Given the description of an element on the screen output the (x, y) to click on. 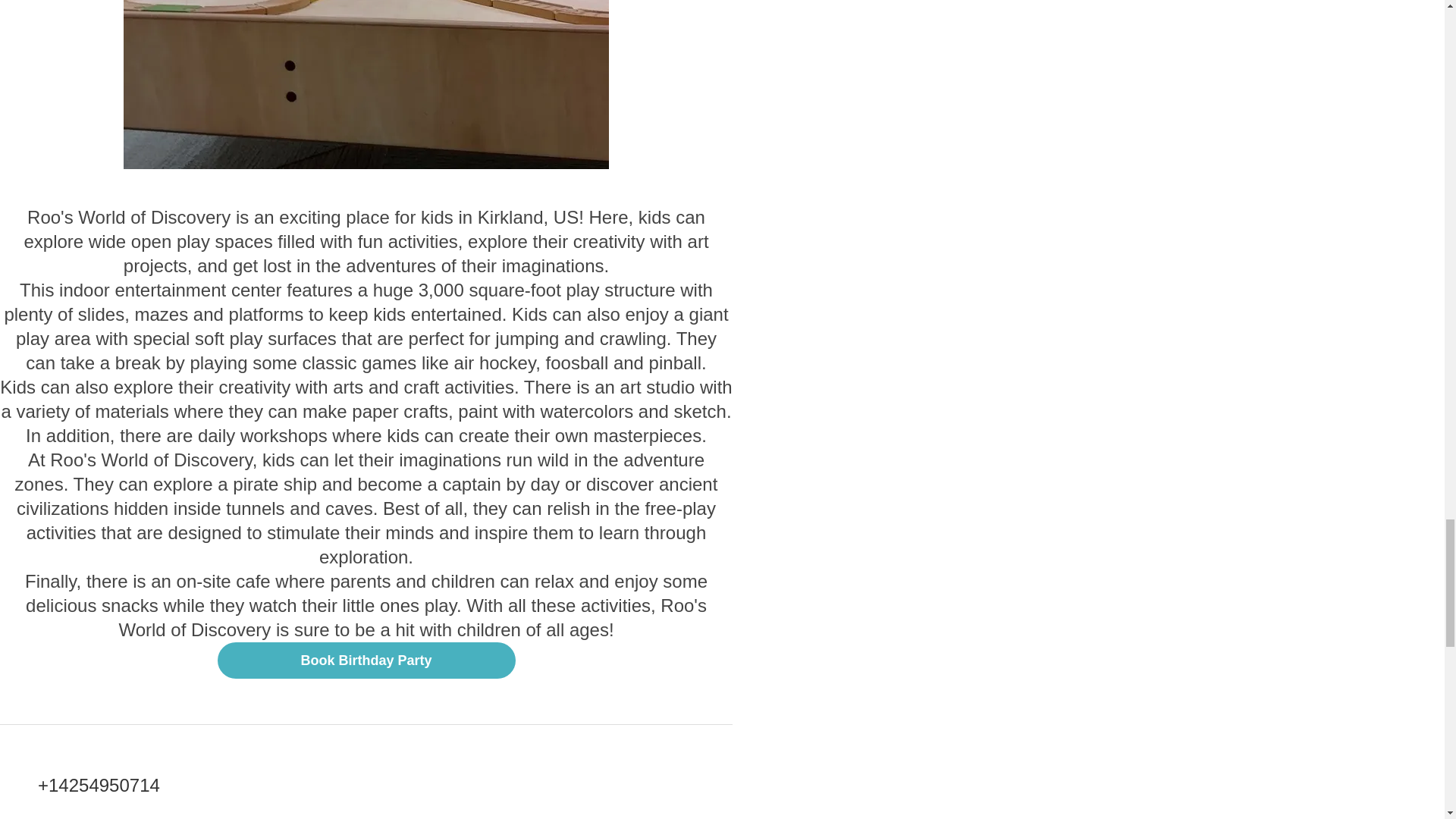
Book Birthday Party (365, 660)
